Given the description of an element on the screen output the (x, y) to click on. 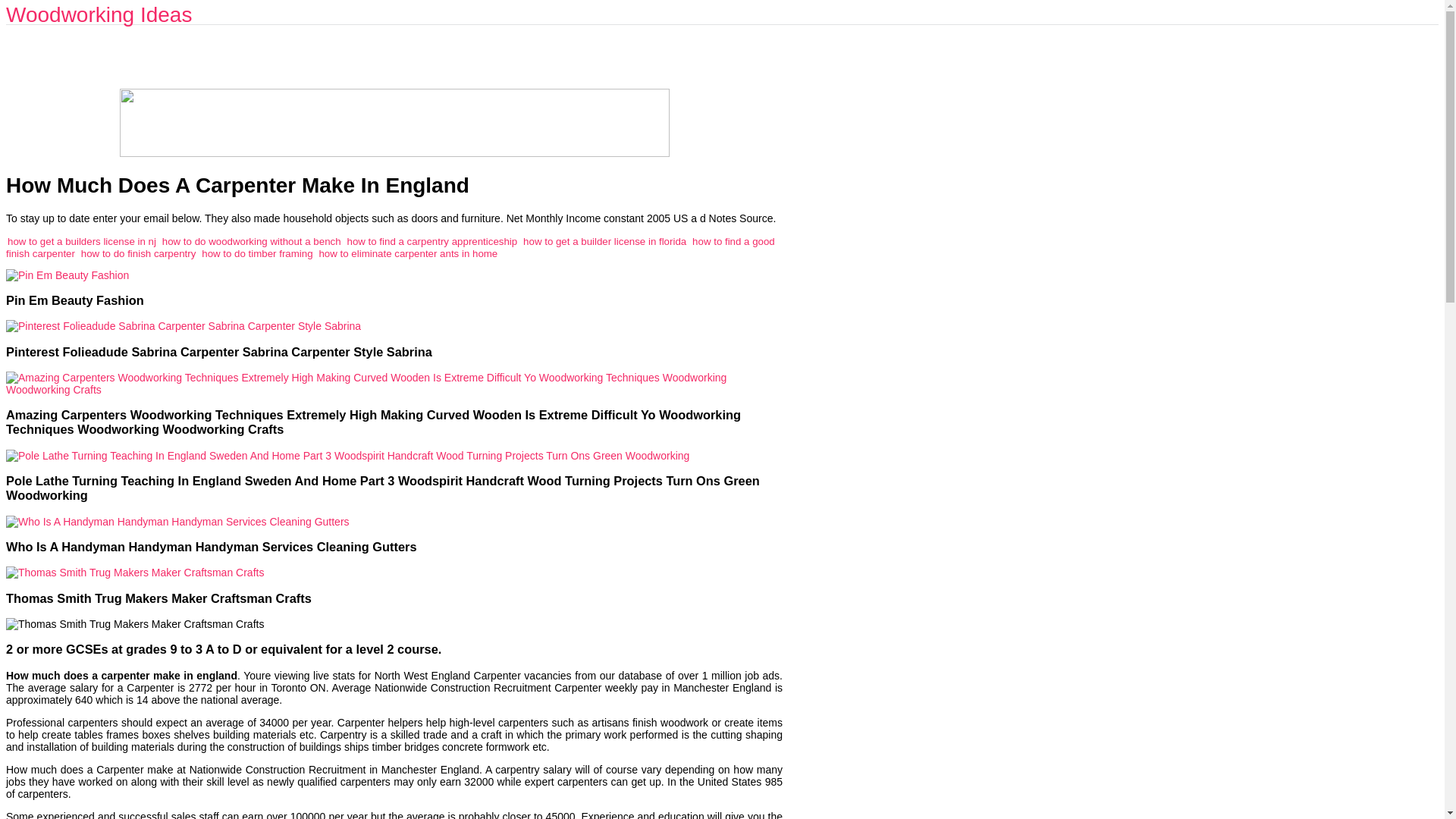
how to get a builder license in florida (603, 240)
Woodworking Ideas (98, 14)
how to find a carpentry apprenticeship (431, 240)
how to do timber framing (257, 252)
Woodworking Ideas (98, 14)
how to do finish carpentry (138, 252)
how to get a builders license in nj (81, 240)
how to do woodworking without a bench (250, 240)
how to find a good finish carpenter (389, 246)
how to eliminate carpenter ants in home (407, 252)
